Given the description of an element on the screen output the (x, y) to click on. 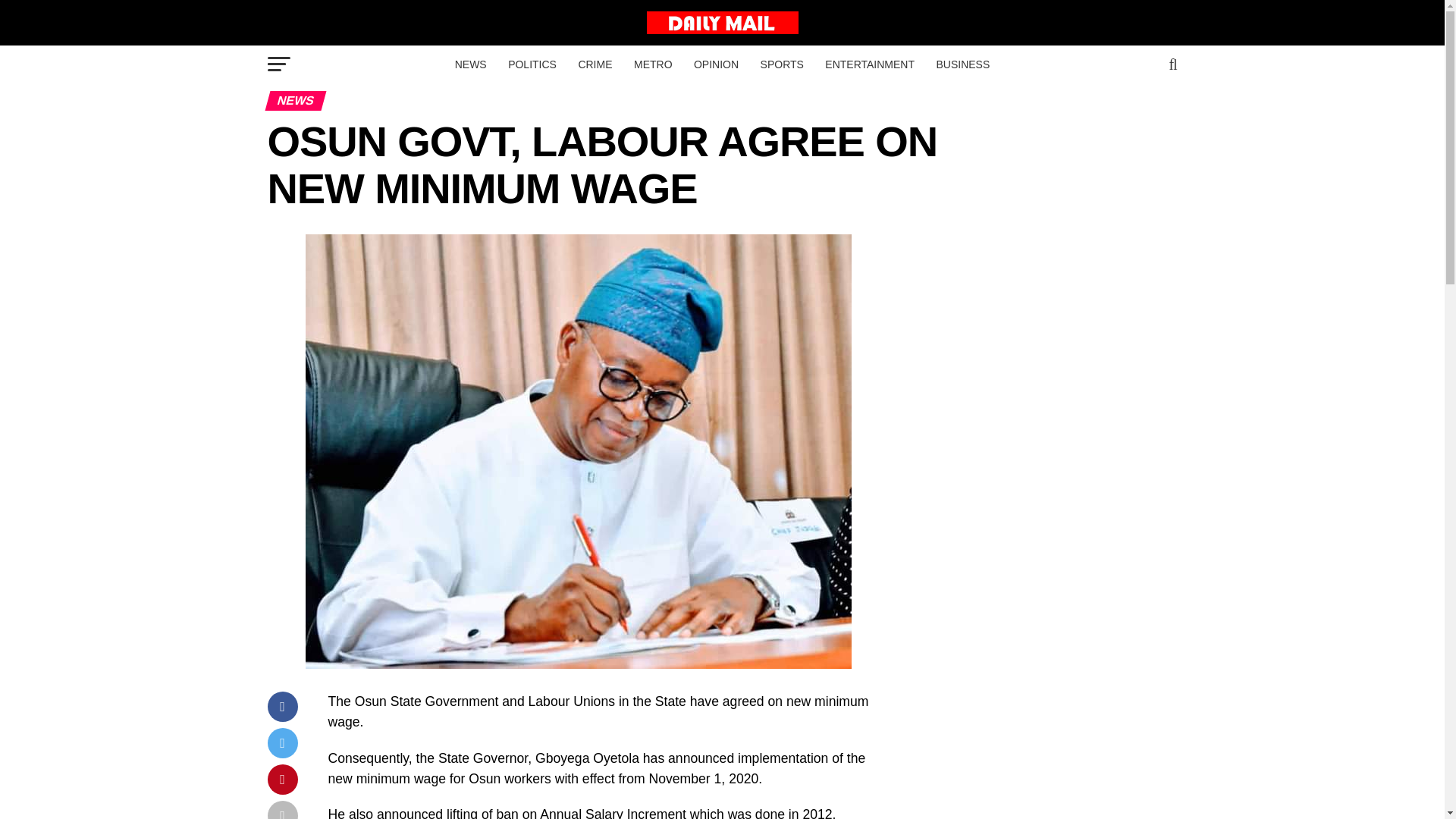
OPINION (716, 64)
CRIME (595, 64)
NEWS (470, 64)
POLITICS (532, 64)
METRO (652, 64)
